Given the description of an element on the screen output the (x, y) to click on. 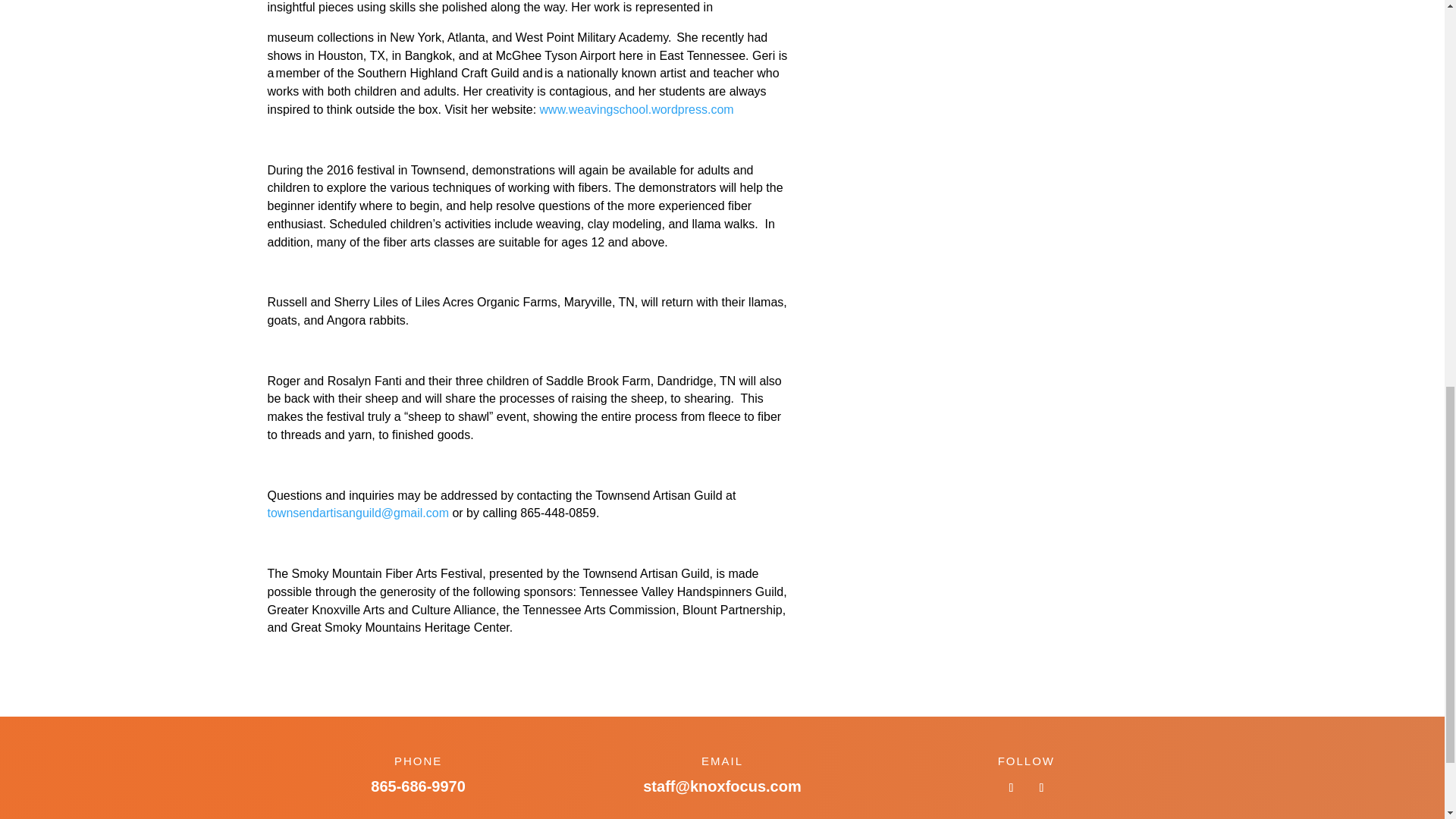
Follow on X (1040, 787)
Follow on Facebook (1010, 787)
